Given the description of an element on the screen output the (x, y) to click on. 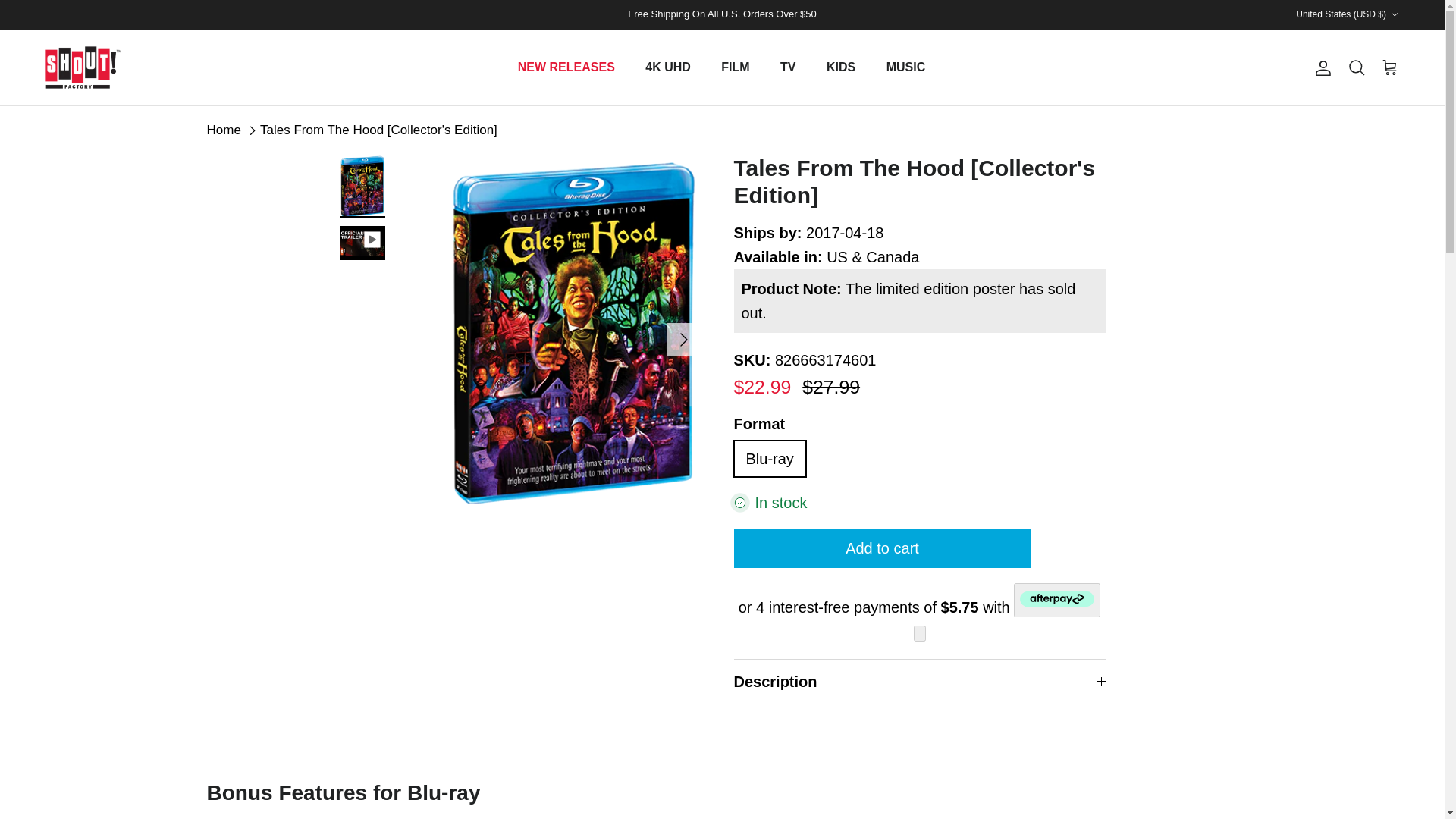
NEW RELEASES (565, 67)
Shout! Factory (82, 67)
4K UHD (667, 67)
KIDS (840, 67)
FILM (734, 67)
Account (1319, 66)
MUSIC (905, 67)
